Given the description of an element on the screen output the (x, y) to click on. 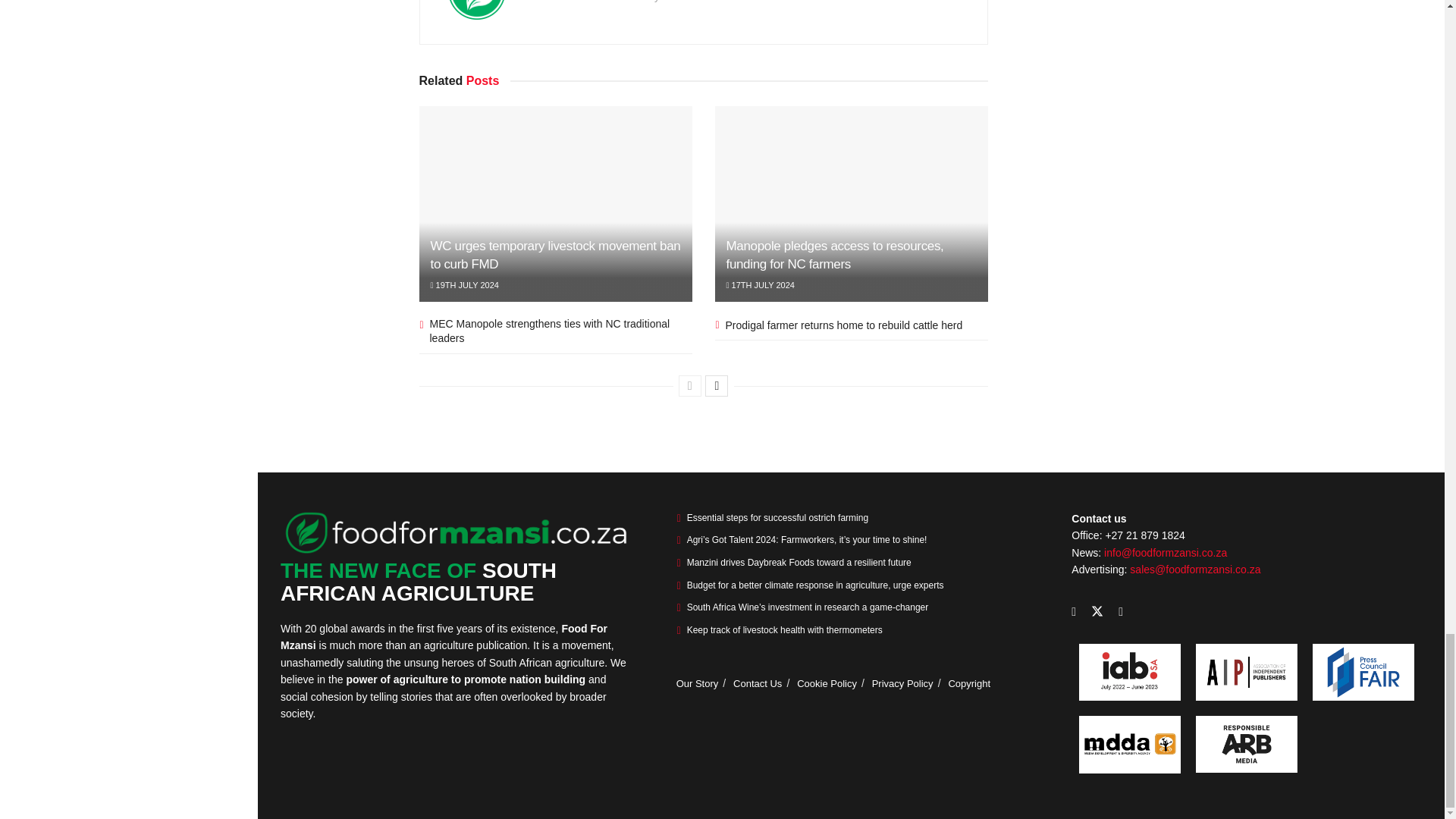
Previous (689, 385)
Next (716, 385)
